Given the description of an element on the screen output the (x, y) to click on. 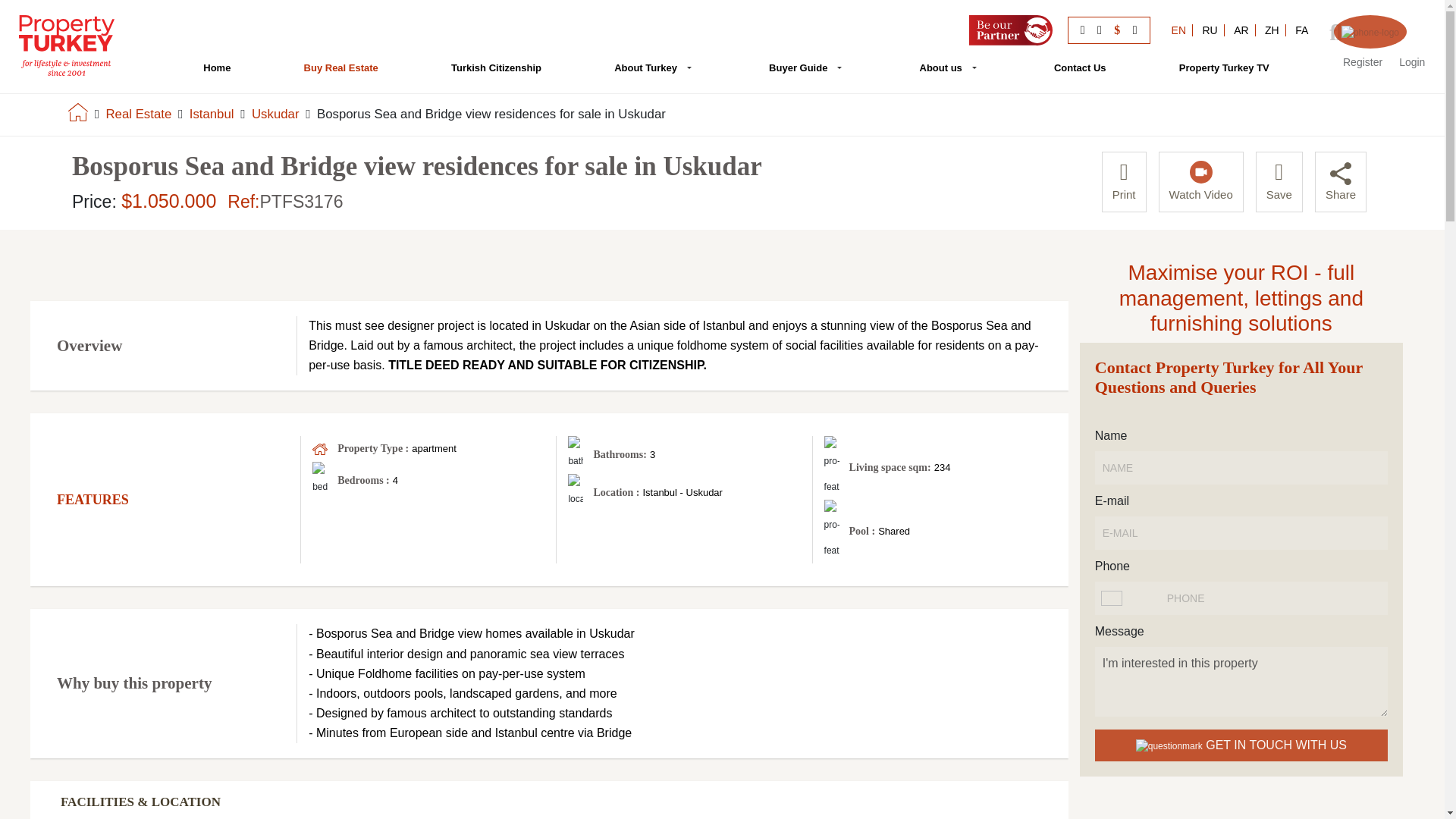
home (77, 111)
EN (1179, 30)
AR (1241, 30)
property turkey logo (66, 45)
ZH (1272, 30)
Cameraicon (1200, 171)
RU (1209, 30)
FA (1301, 30)
share button (1340, 173)
